Given the description of an element on the screen output the (x, y) to click on. 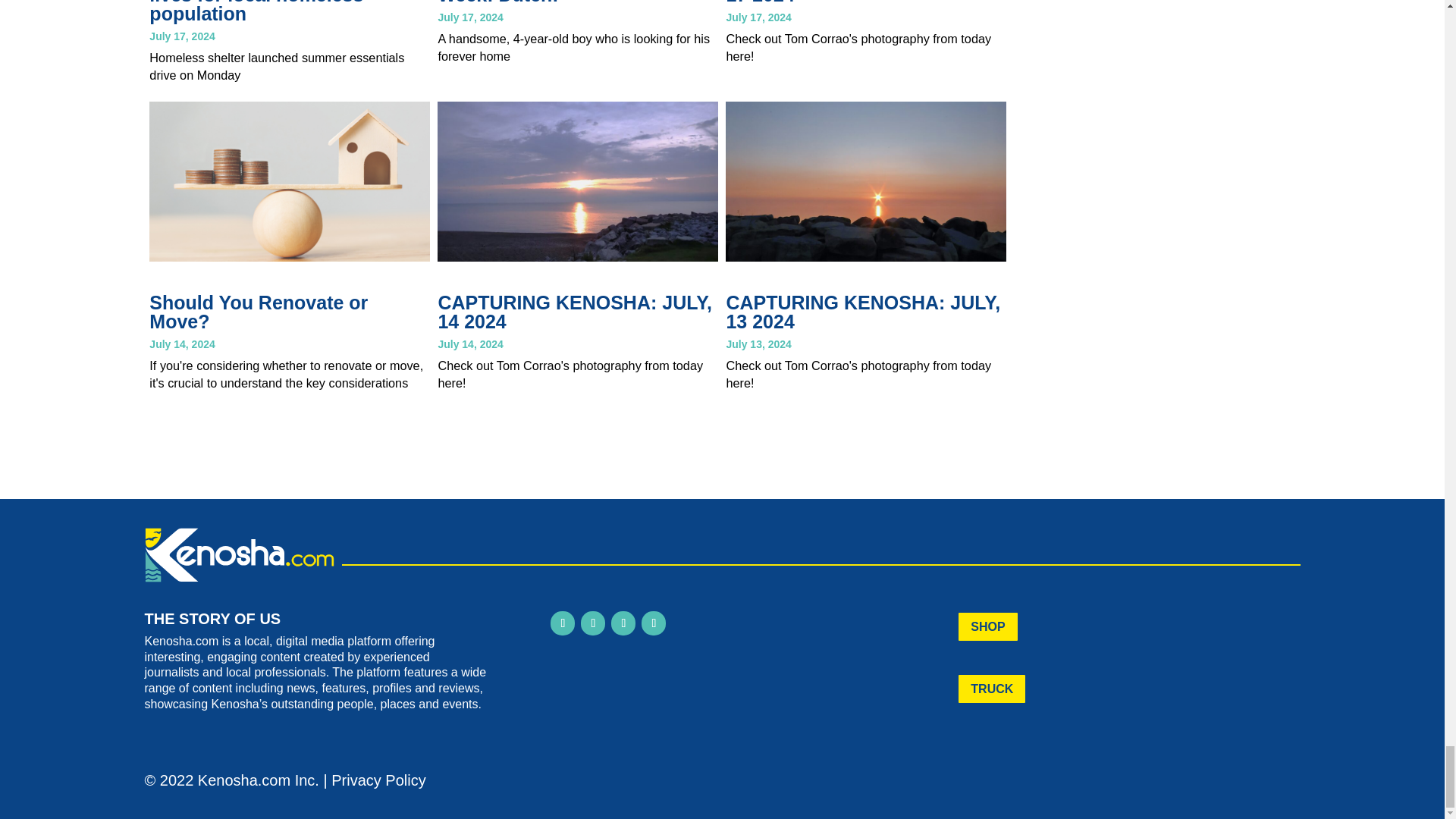
footer-logo (238, 554)
Follow on Facebook (562, 622)
Follow on LinkedIn (622, 622)
Follow on Instagram (592, 622)
